Given the description of an element on the screen output the (x, y) to click on. 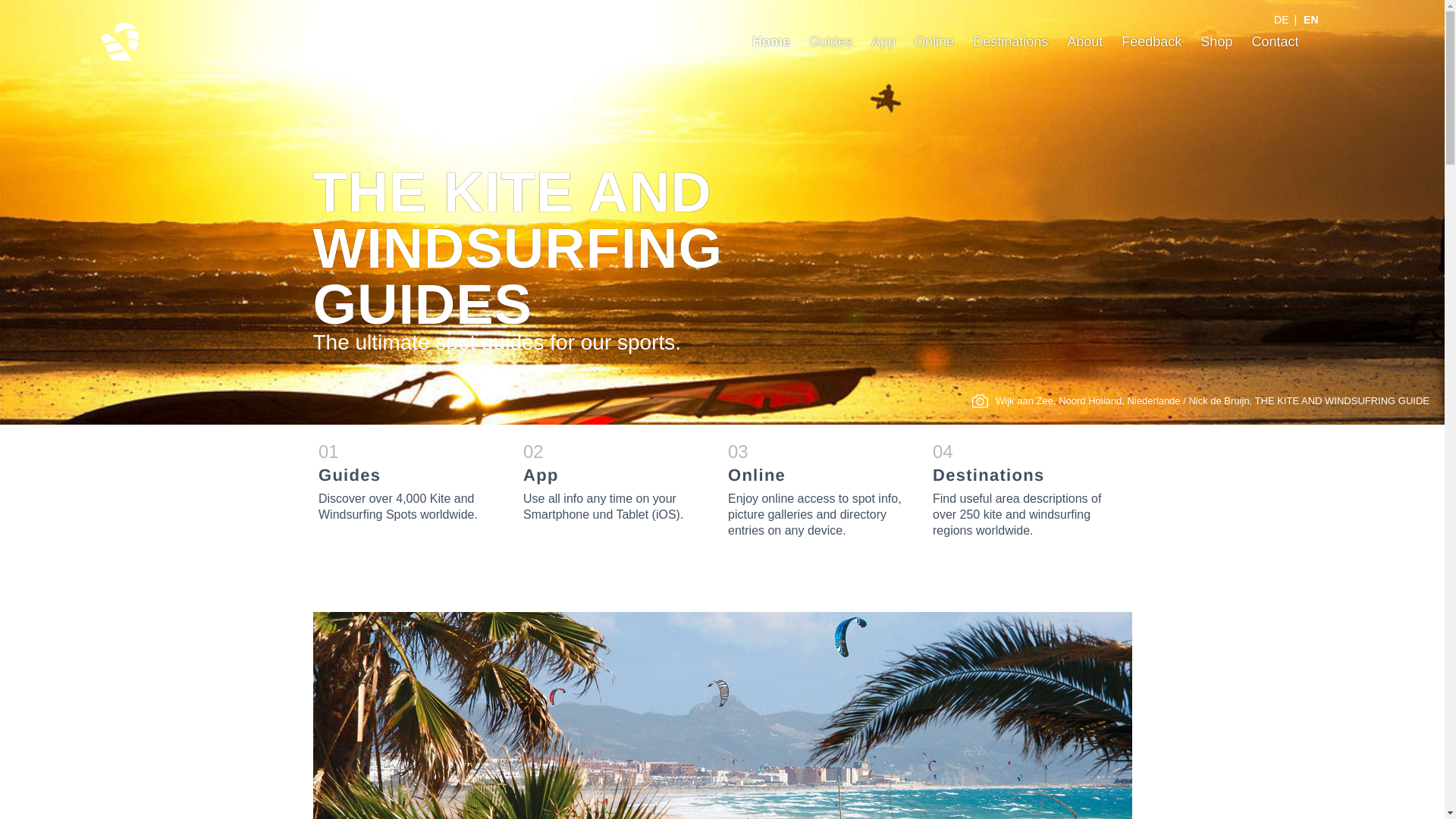
App (882, 41)
Home (1281, 19)
Shop (1215, 41)
Guides (408, 481)
Online (818, 488)
Online (933, 41)
Guides (830, 41)
DE (1281, 19)
Destinations (1010, 41)
Contact (1274, 41)
Destinations (1023, 488)
About (1084, 41)
App (882, 41)
